Given the description of an element on the screen output the (x, y) to click on. 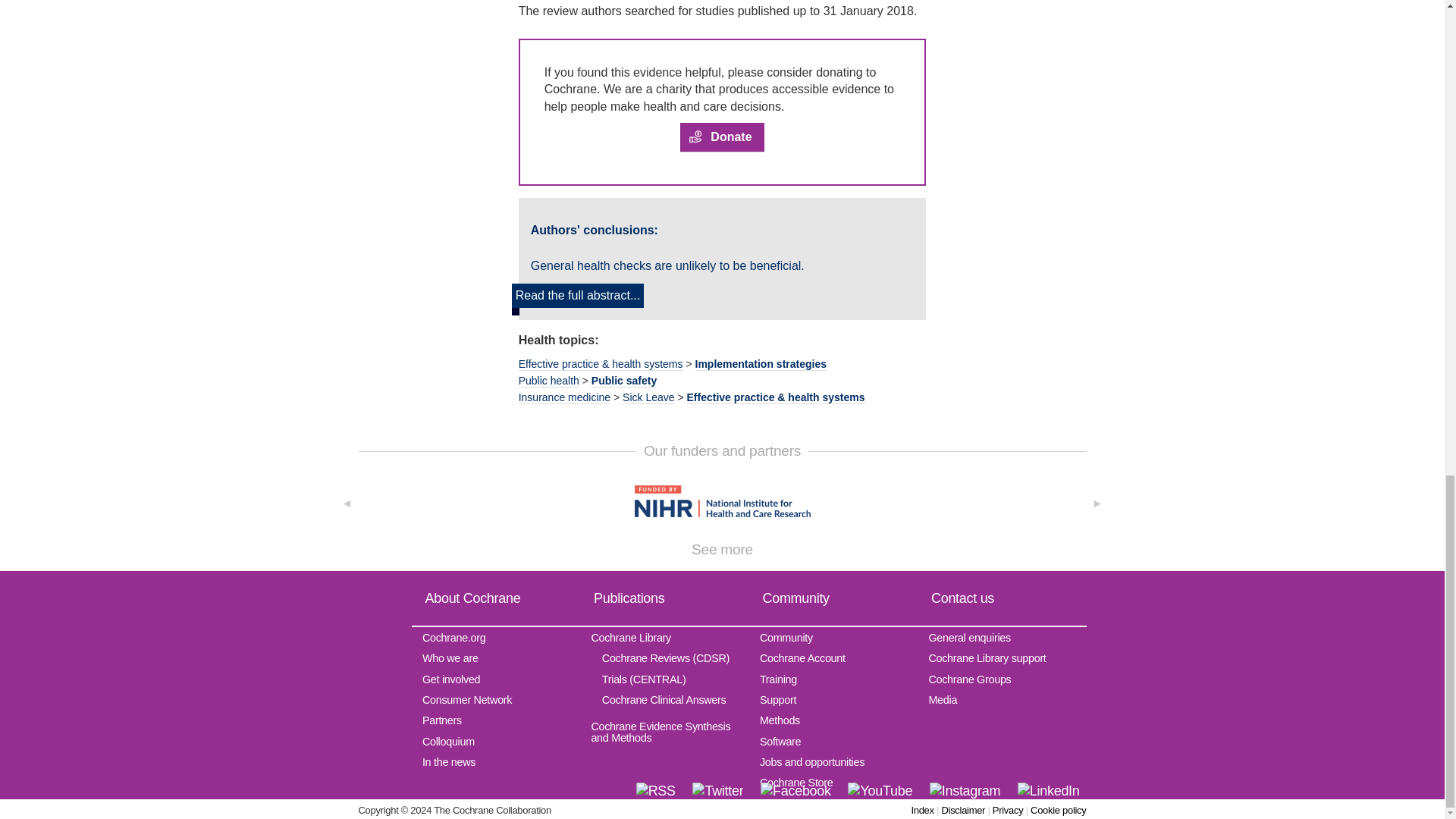
Sick Leave (648, 397)
Facebook (795, 790)
Donate (720, 137)
LinkedIn (1048, 790)
RSS (655, 790)
National Institute for Health and Care Research (721, 501)
YouTube (879, 790)
Instagram (965, 790)
Public health (548, 380)
Insurance medicine (564, 397)
Implementation strategies (760, 364)
Public safety (623, 380)
Twitter (717, 790)
